Given the description of an element on the screen output the (x, y) to click on. 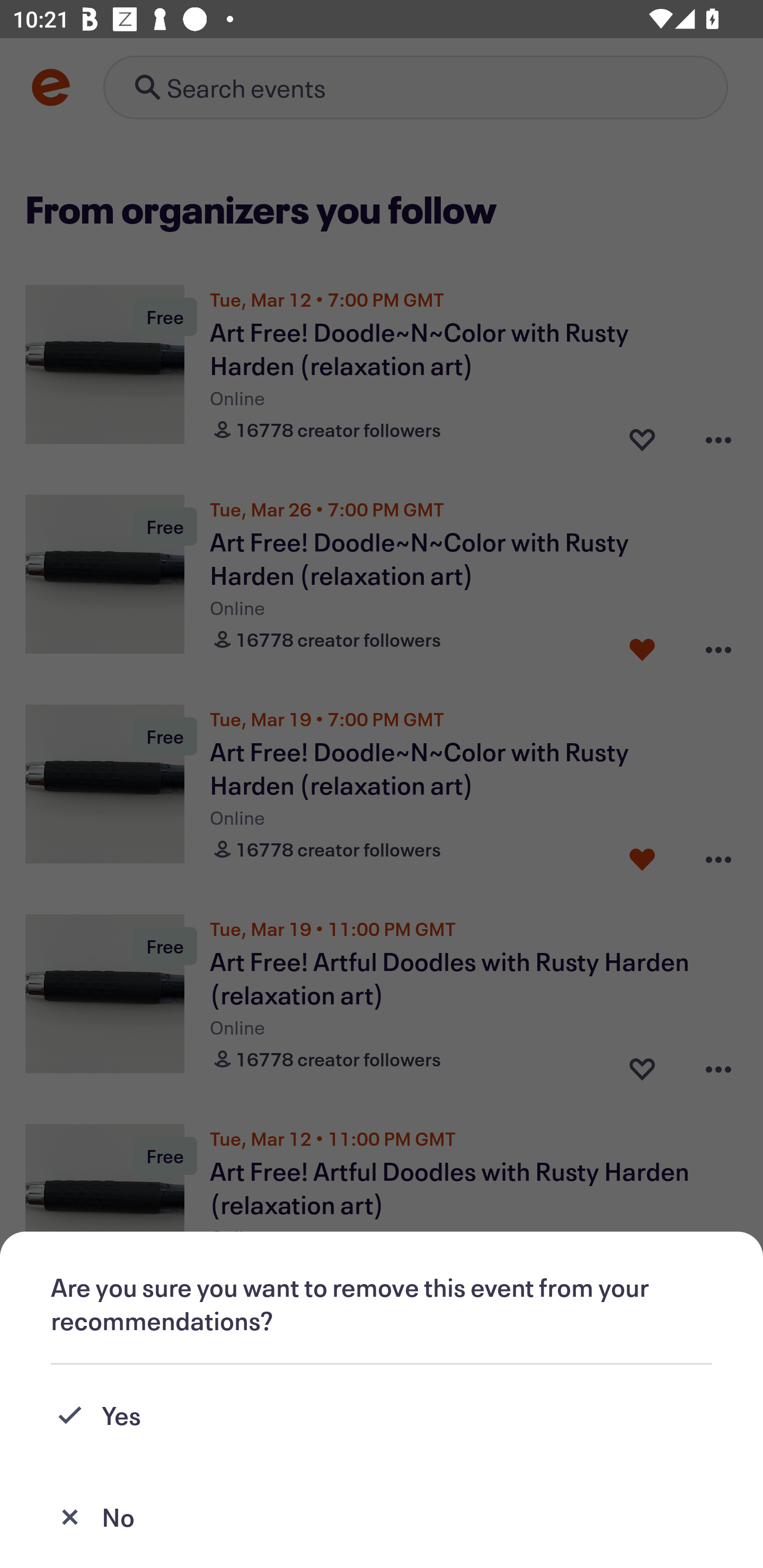
Yes (381, 1415)
No (381, 1517)
